Given the description of an element on the screen output the (x, y) to click on. 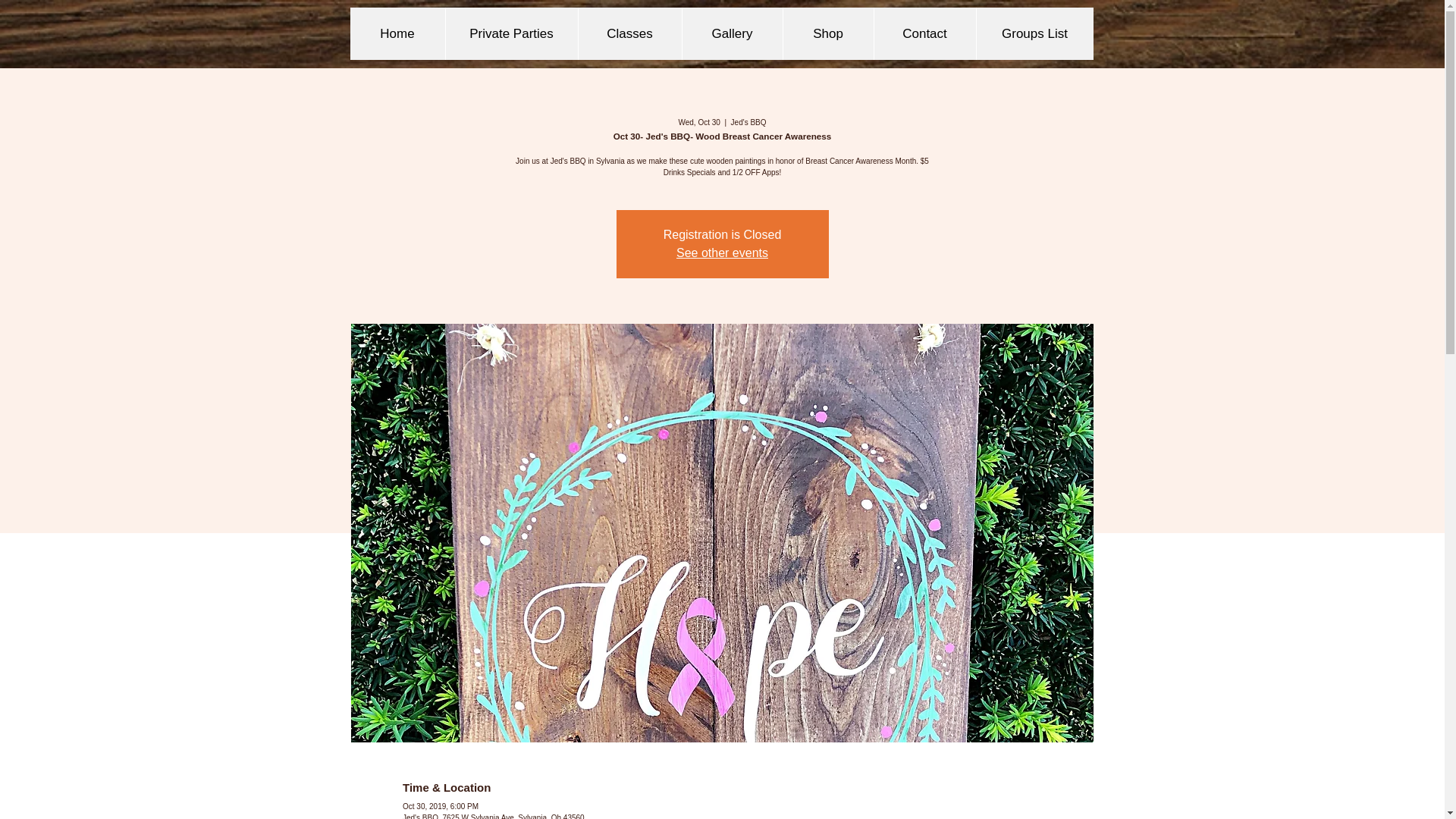
Classes (629, 33)
Home (397, 33)
Groups List (1034, 33)
Gallery (731, 33)
Contact (924, 33)
See other events (722, 252)
Shop (828, 33)
Private Parties (510, 33)
